Given the description of an element on the screen output the (x, y) to click on. 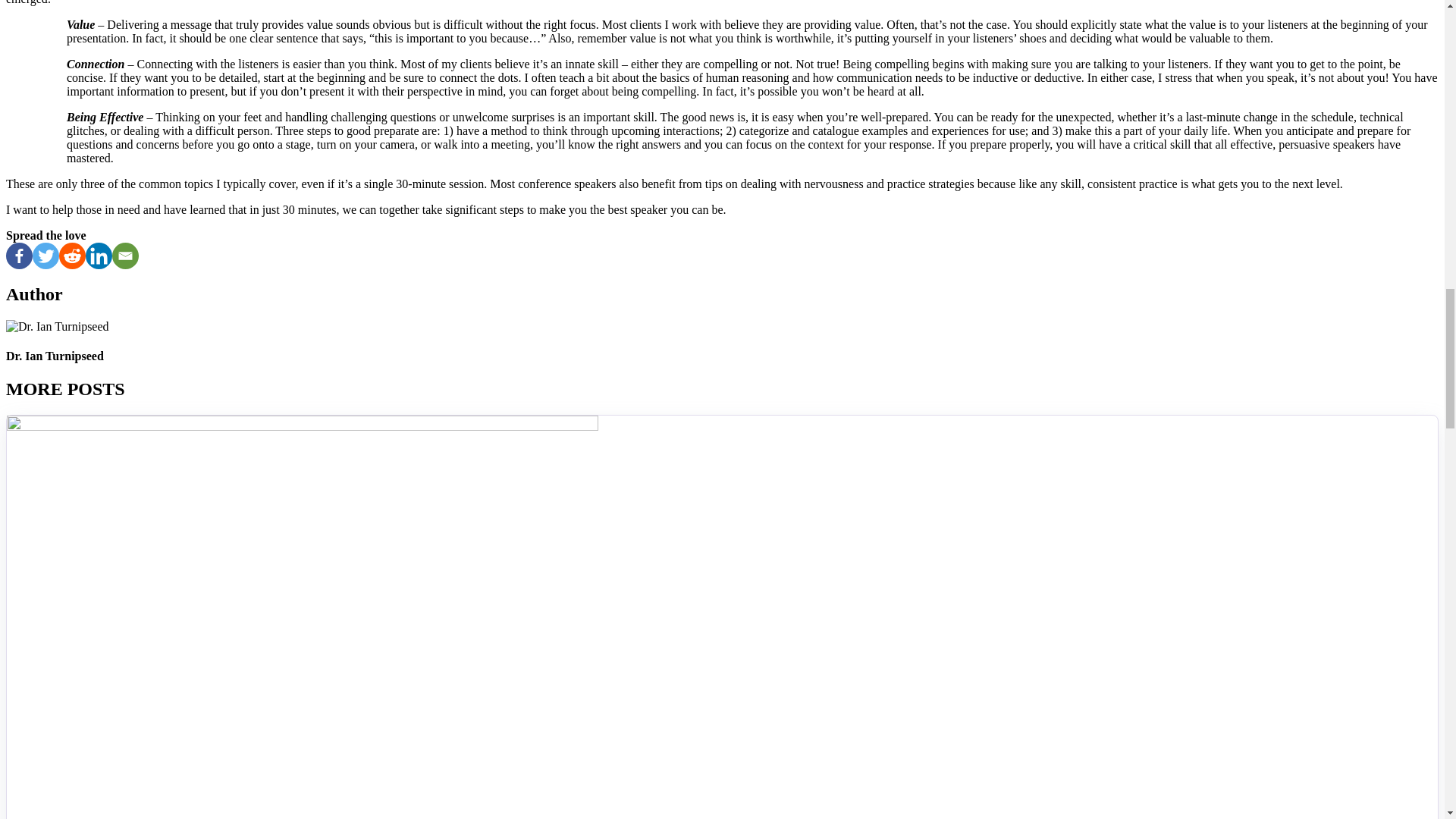
Email (125, 255)
Linkedin (98, 255)
Twitter (45, 255)
Reddit (72, 255)
Facebook (18, 255)
